Given the description of an element on the screen output the (x, y) to click on. 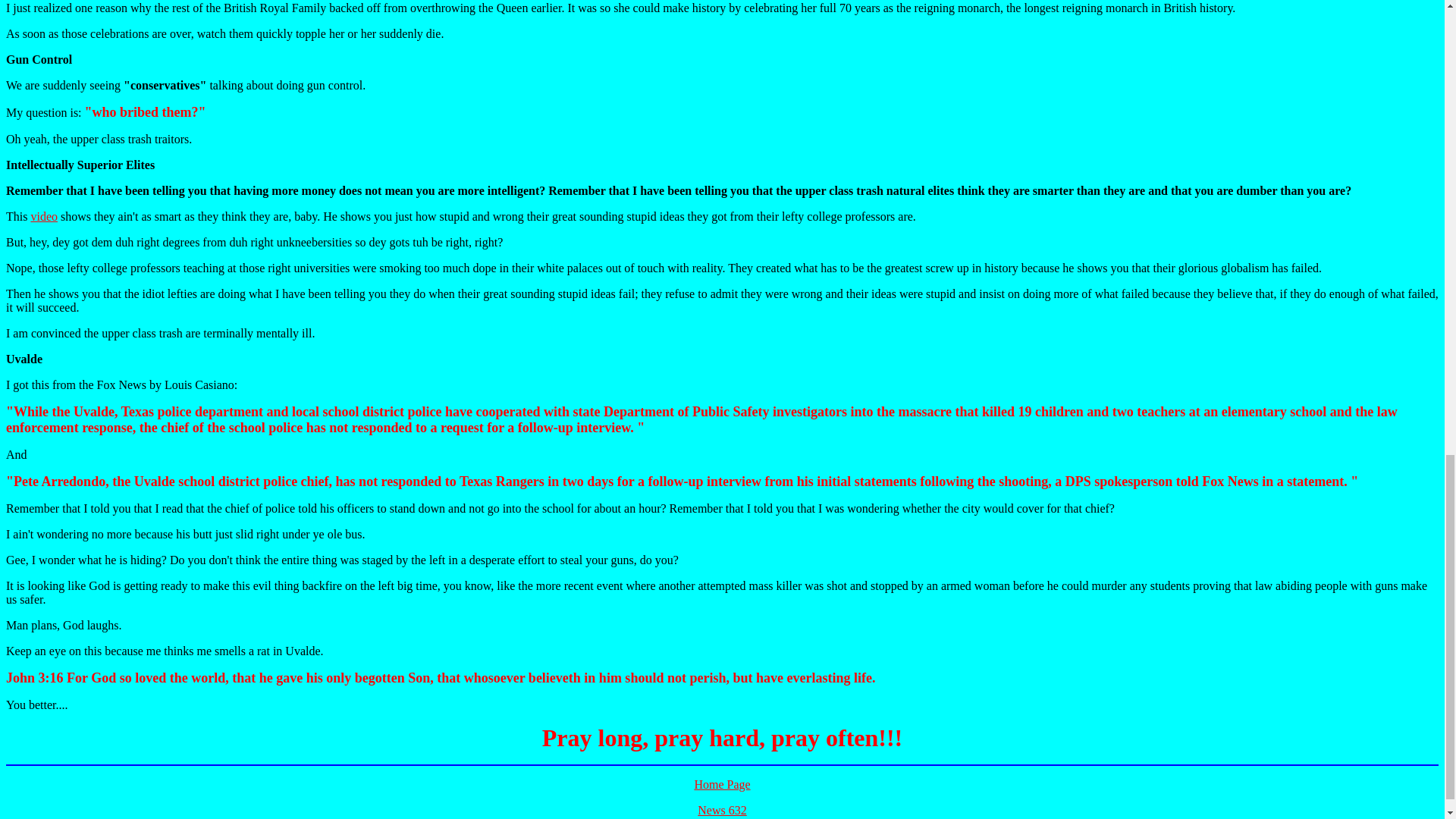
video (44, 215)
News 632 (721, 809)
Home Page (721, 784)
